Given the description of an element on the screen output the (x, y) to click on. 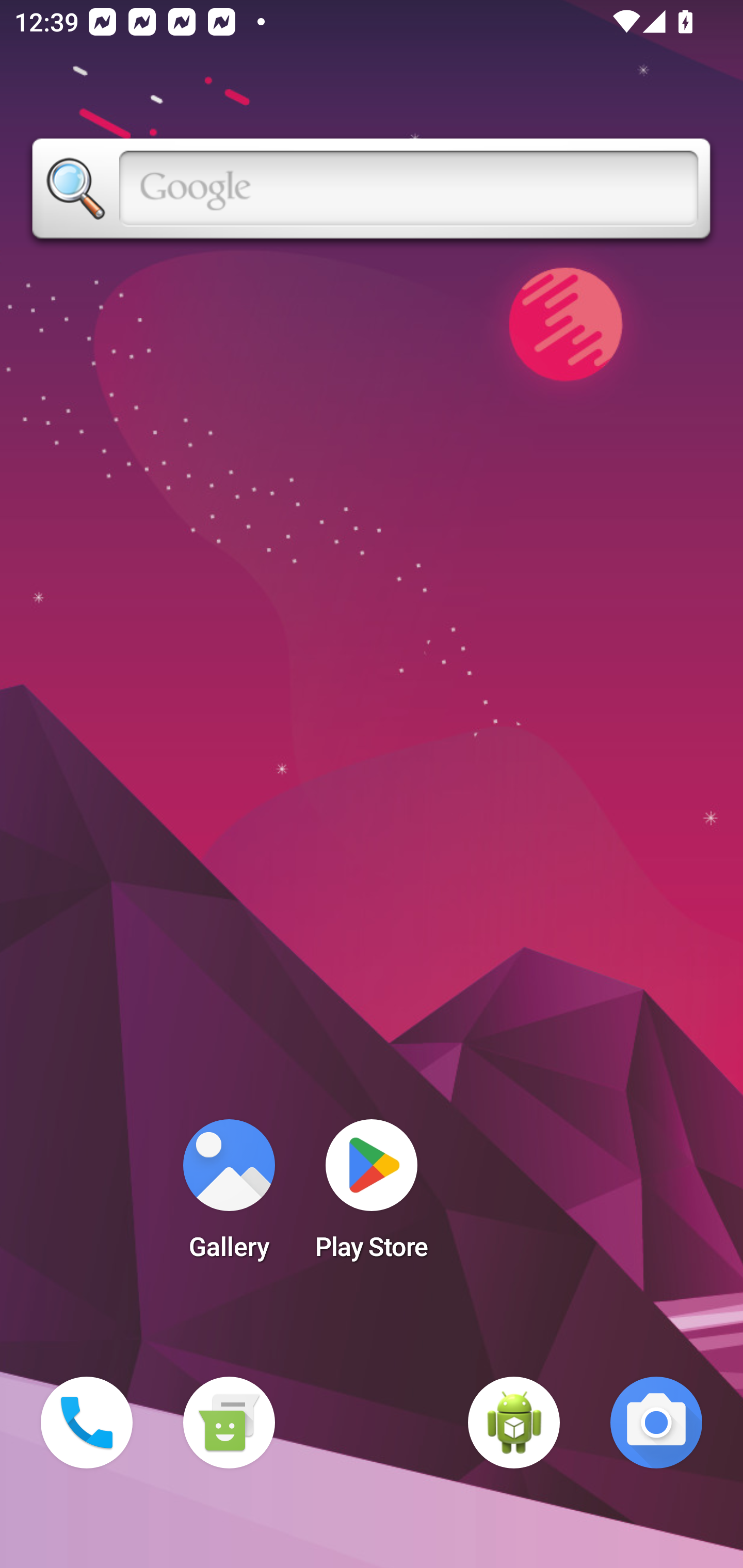
Gallery (228, 1195)
Play Store (371, 1195)
Phone (86, 1422)
Messaging (228, 1422)
WebView Browser Tester (513, 1422)
Camera (656, 1422)
